Given the description of an element on the screen output the (x, y) to click on. 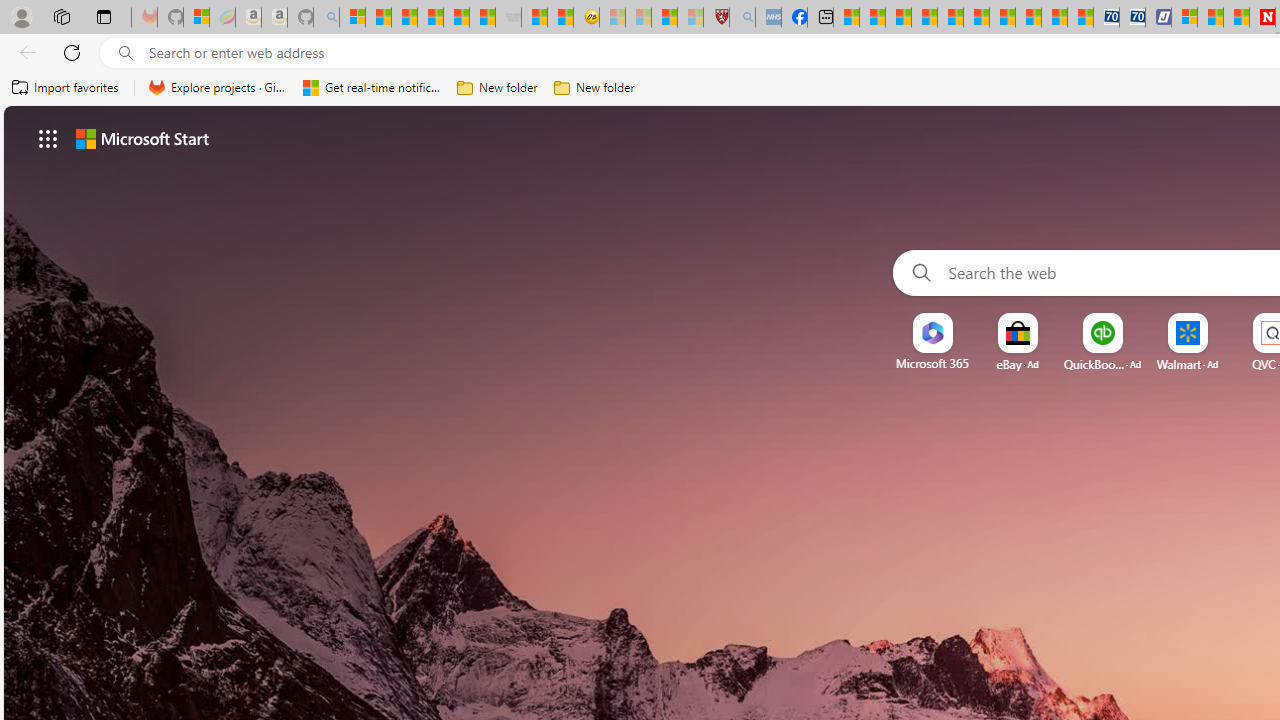
Import favorites (65, 88)
App launcher (47, 138)
World - MSN (898, 17)
Science - MSN (664, 17)
Microsoft start (142, 138)
Search icon (125, 53)
Ad (1212, 363)
